Given the description of an element on the screen output the (x, y) to click on. 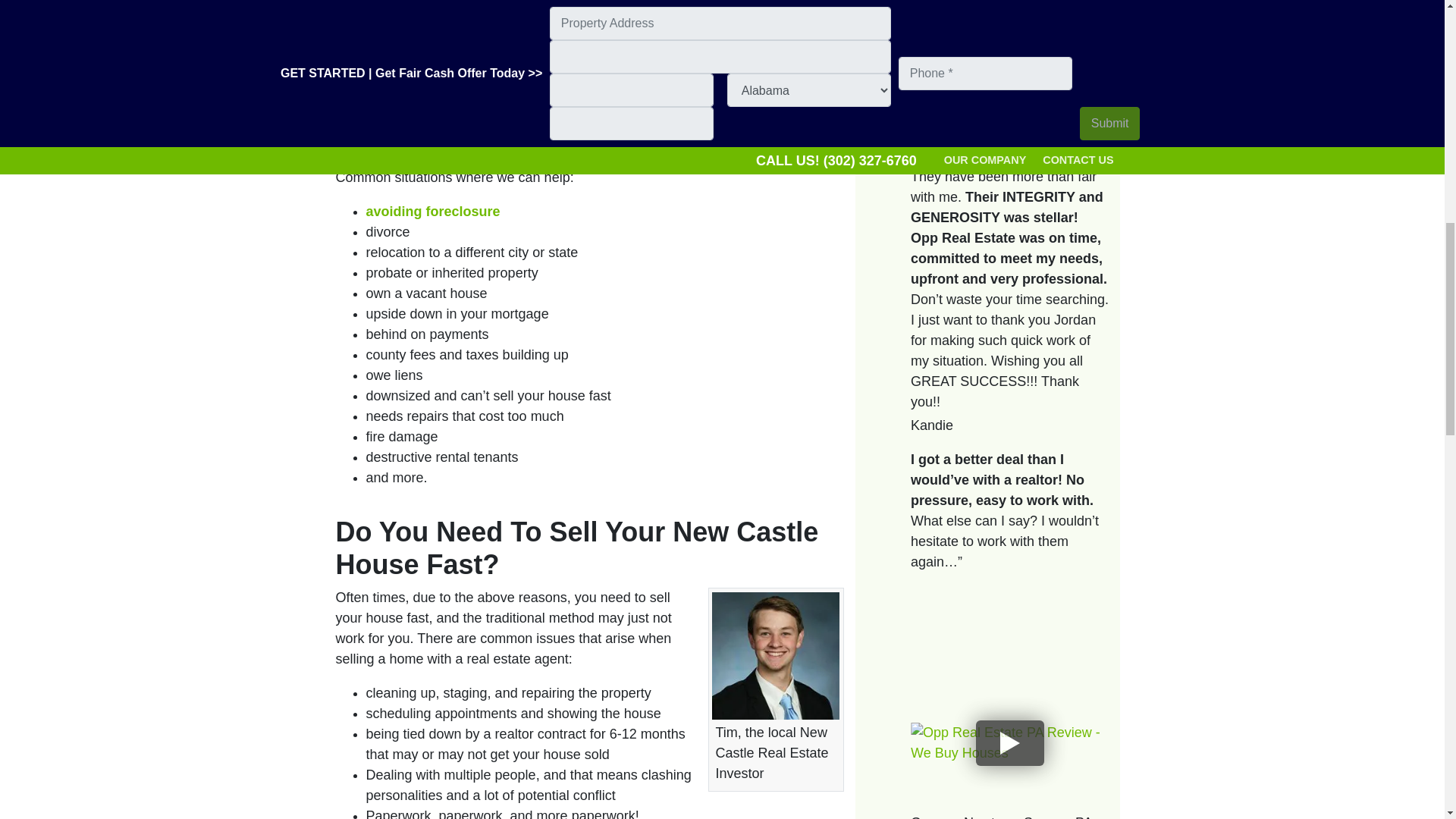
We Buy Houses Delaware (775, 655)
avoiding foreclosure (432, 211)
How Our Process Works (548, 10)
